Given the description of an element on the screen output the (x, y) to click on. 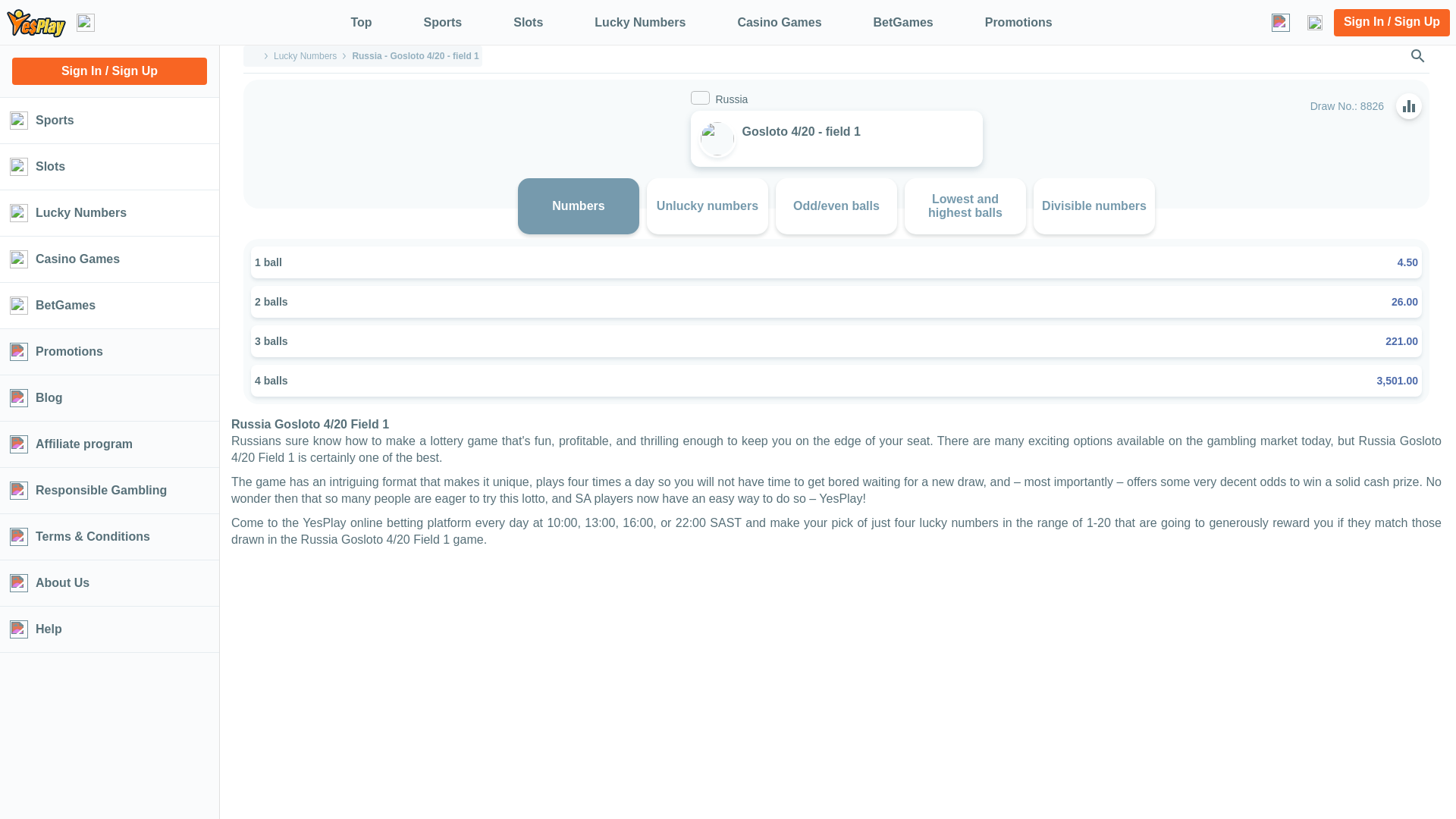
About Us (109, 583)
Lucky Numbers (109, 212)
Promotions (109, 351)
Lucky Numbers (621, 22)
Sports (109, 120)
Promotions (999, 22)
Lucky Numbers (304, 55)
Blog (109, 397)
BetGames (884, 22)
Casino Games (109, 258)
